Given the description of an element on the screen output the (x, y) to click on. 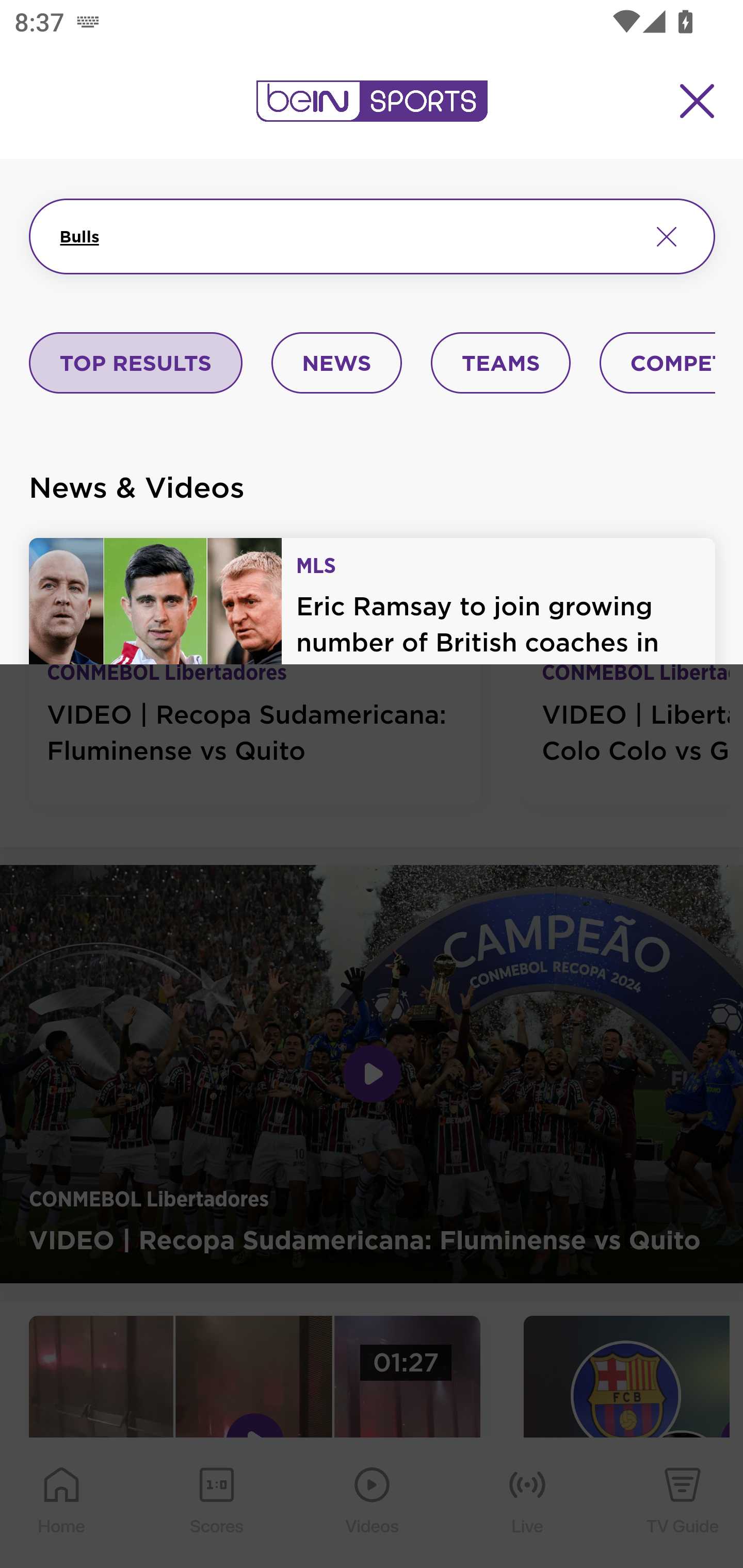
en-us?platform=mobile_android bein logo (371, 101)
Close Menu Icon (697, 101)
Bulls (346, 235)
TOP RESULTS (135, 363)
NEWS (336, 363)
TEAMS (500, 363)
COMPETITIONS (657, 363)
